Given the description of an element on the screen output the (x, y) to click on. 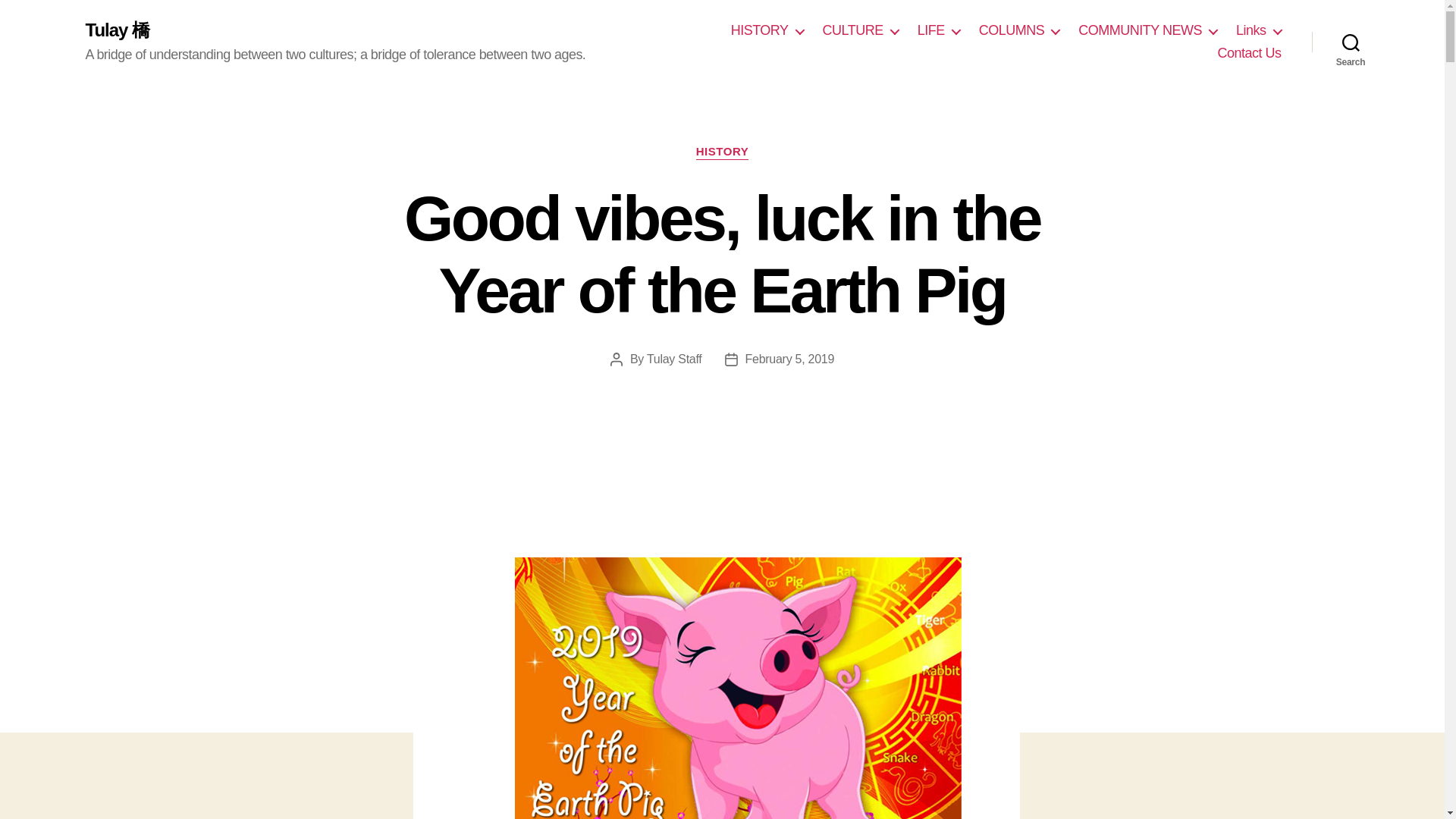
CULTURE (860, 30)
Search (1350, 41)
Links (1258, 30)
COLUMNS (1018, 30)
COMMUNITY NEWS (1147, 30)
Contact Us (1249, 53)
HISTORY (766, 30)
LIFE (938, 30)
